Given the description of an element on the screen output the (x, y) to click on. 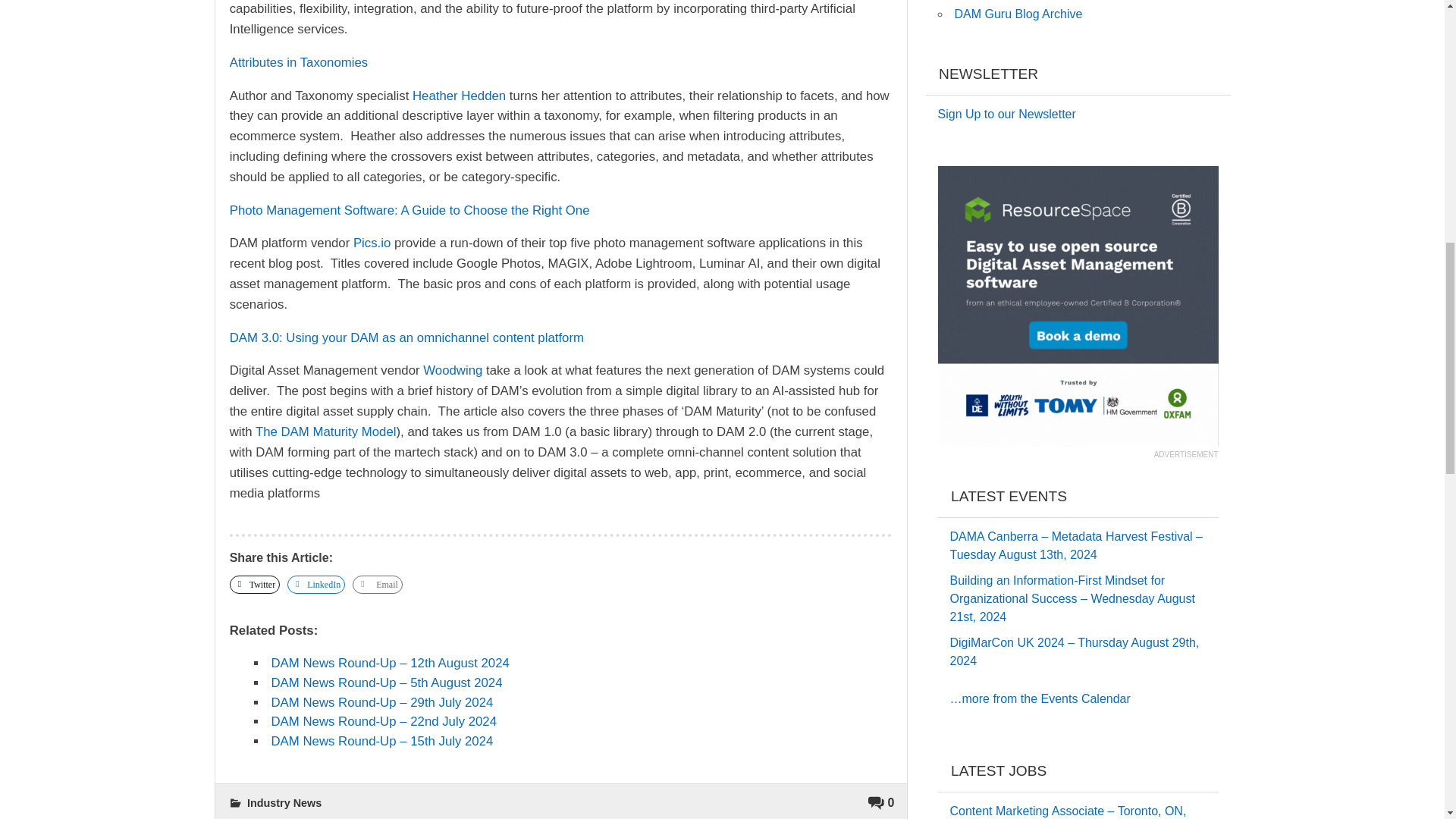
Heather Hedden (458, 95)
Woodwing (452, 370)
DAM Guru Blog Archive (1017, 13)
DAM 3.0: Using your DAM as an omnichannel content platform (406, 337)
Attributes in Taxonomies (299, 62)
Twitter (254, 584)
The DAM Maturity Model (326, 431)
Pics.io (371, 242)
Photo Management Software: A Guide to Choose the Right One (409, 210)
